Given the description of an element on the screen output the (x, y) to click on. 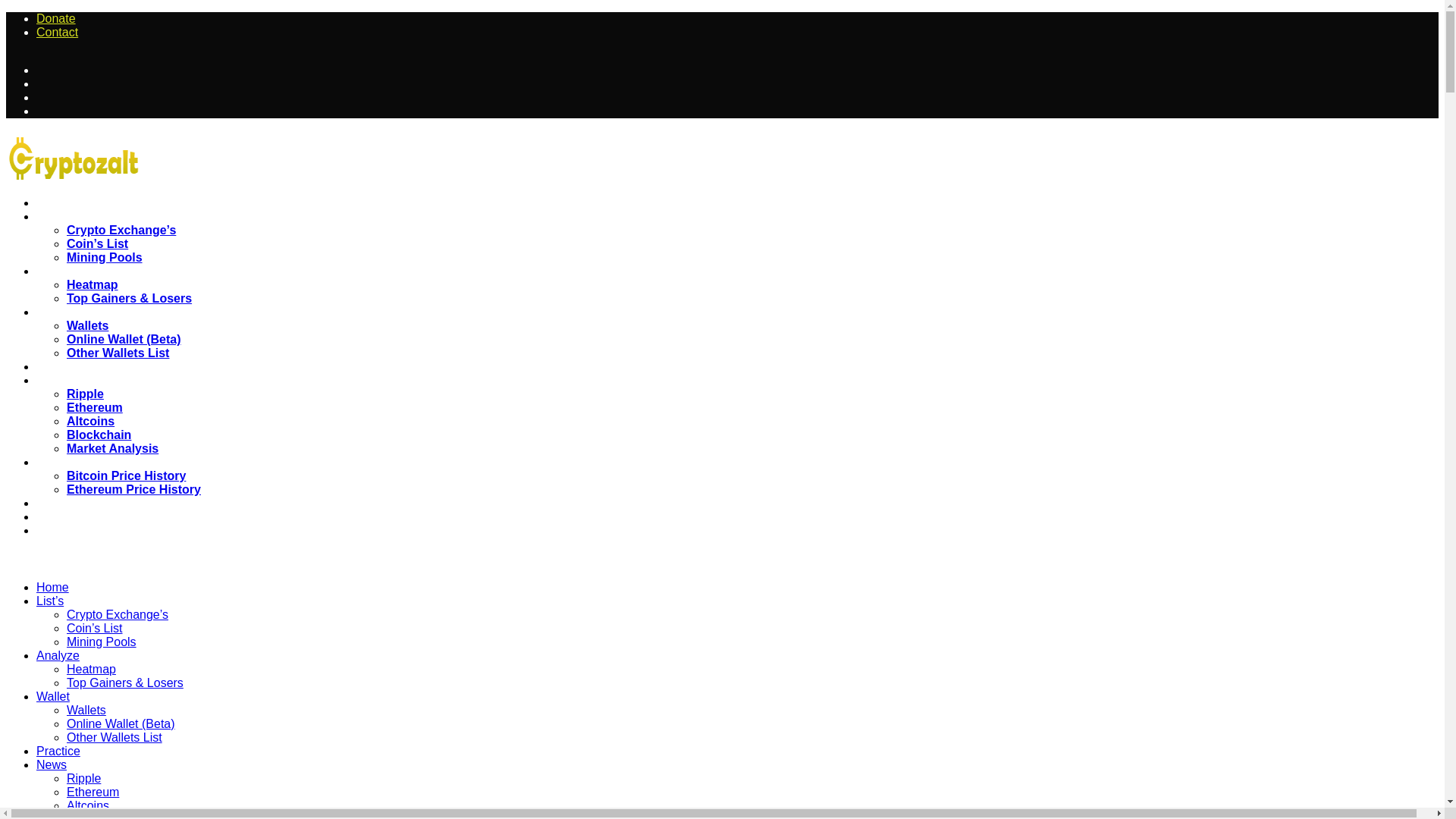
Other Wallets List (117, 325)
Menu Close (32, 529)
Trade Crypto (76, 490)
Buy Crypto (71, 476)
Wallet (60, 285)
Wallets (86, 297)
Bitcoin Price History (126, 448)
Home (52, 559)
Mining Pools (101, 614)
Donate (55, 38)
Home (58, 175)
Ethereum Price History (133, 461)
Mining Pools (104, 229)
Analyze (63, 244)
Practice (63, 339)
